Given the description of an element on the screen output the (x, y) to click on. 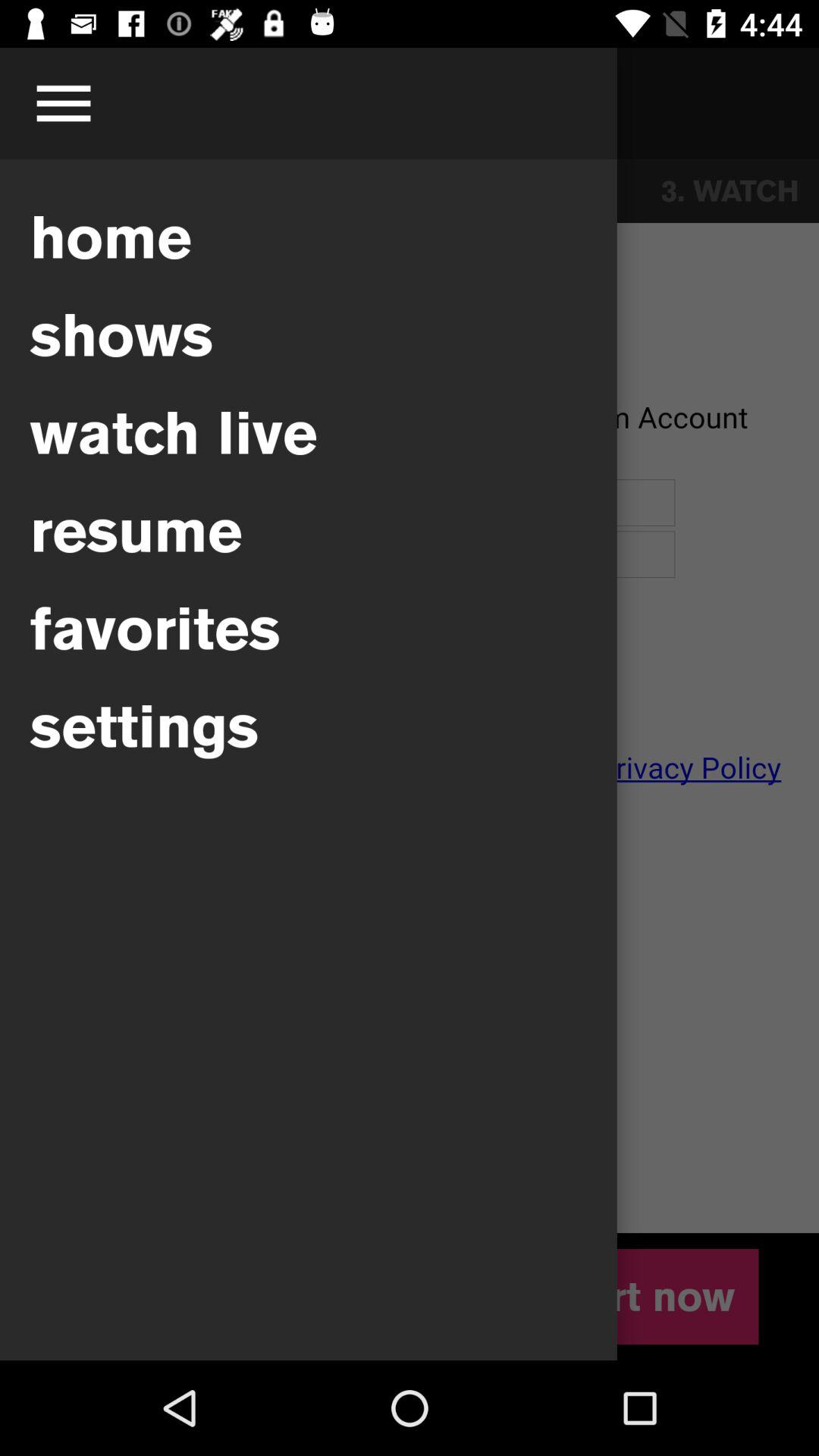
select the more options button (63, 103)
